Given the description of an element on the screen output the (x, y) to click on. 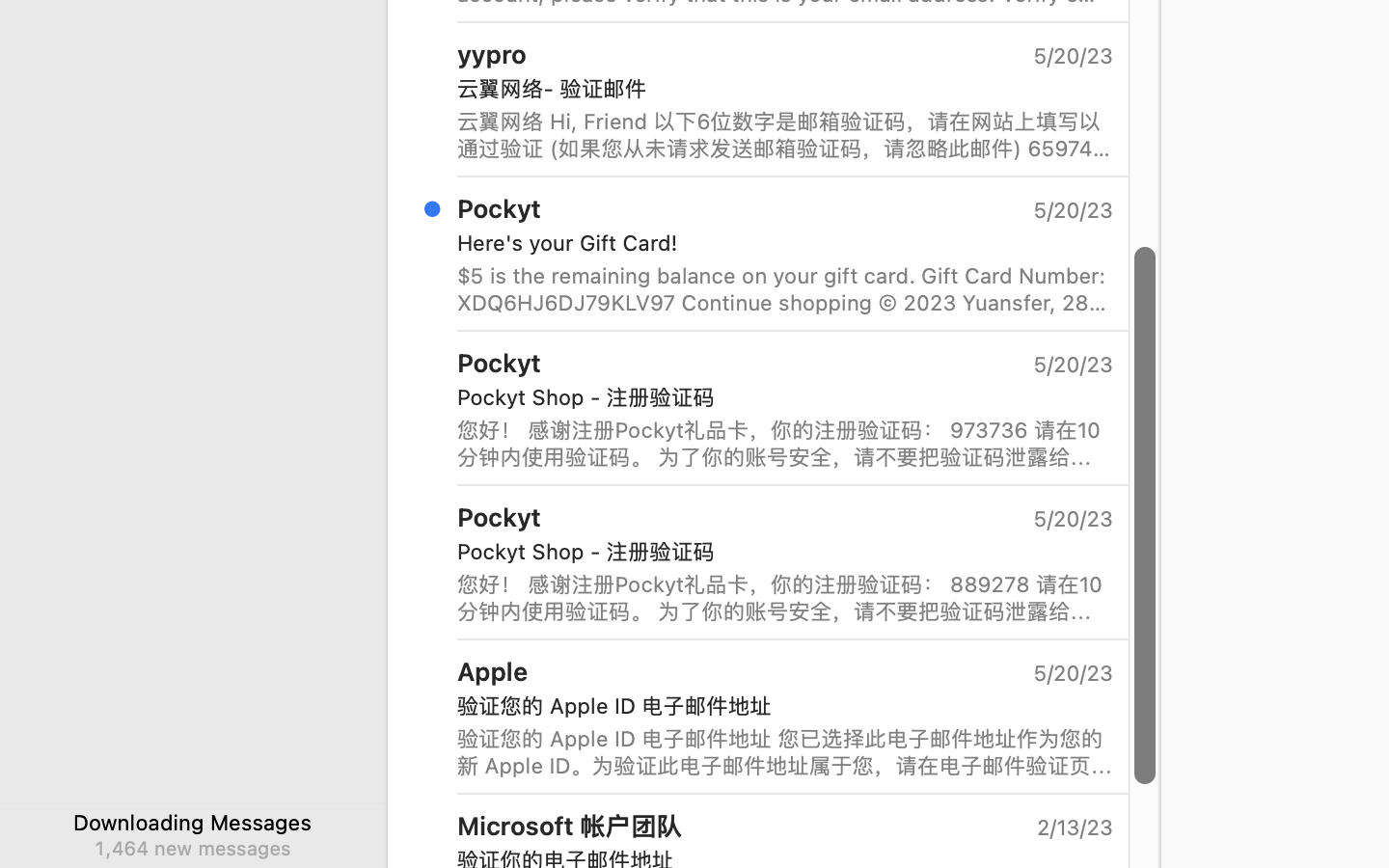
0.9271523178807947 Element type: AXValueIndicator (1143, 514)
33 messages, 12 unread Element type: AXStaticText (722, 732)
Microsoft 帐户团队 Element type: AXStaticText (569, 825)
您好！ 感谢注册Pockyt礼品卡，你的注册验证码： 889278 请在10分钟内使用验证码。 为了你的账号安全，请不要把验证码泄露给其他人，谨防被骗。 如果这不是你的请求，请忽略此邮件。 顺颂商祺, Pockyt礼品卡 浏览 shop.pockyt.io 了解更多礼品卡资讯 Element type: AXStaticText (784, 597)
Here's your Gift Card! Element type: AXStaticText (777, 242)
